Given the description of an element on the screen output the (x, y) to click on. 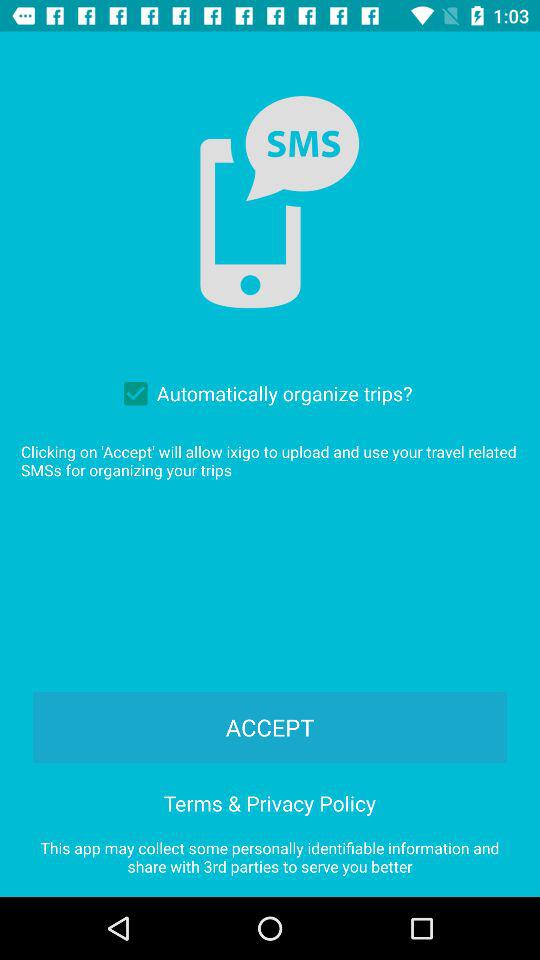
turn on the terms & privacy policy item (270, 799)
